Given the description of an element on the screen output the (x, y) to click on. 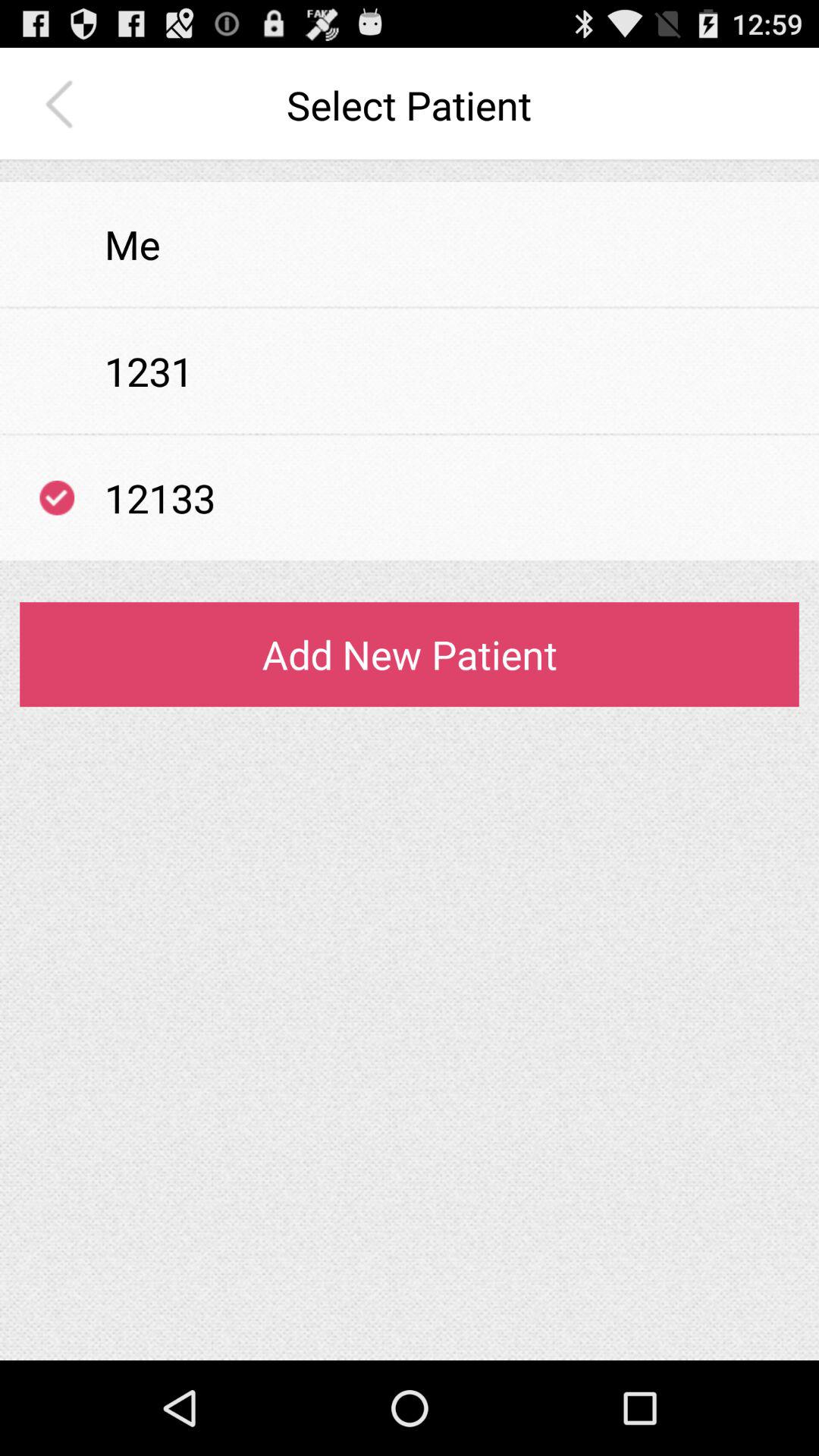
tap the icon above the me (409, 172)
